Given the description of an element on the screen output the (x, y) to click on. 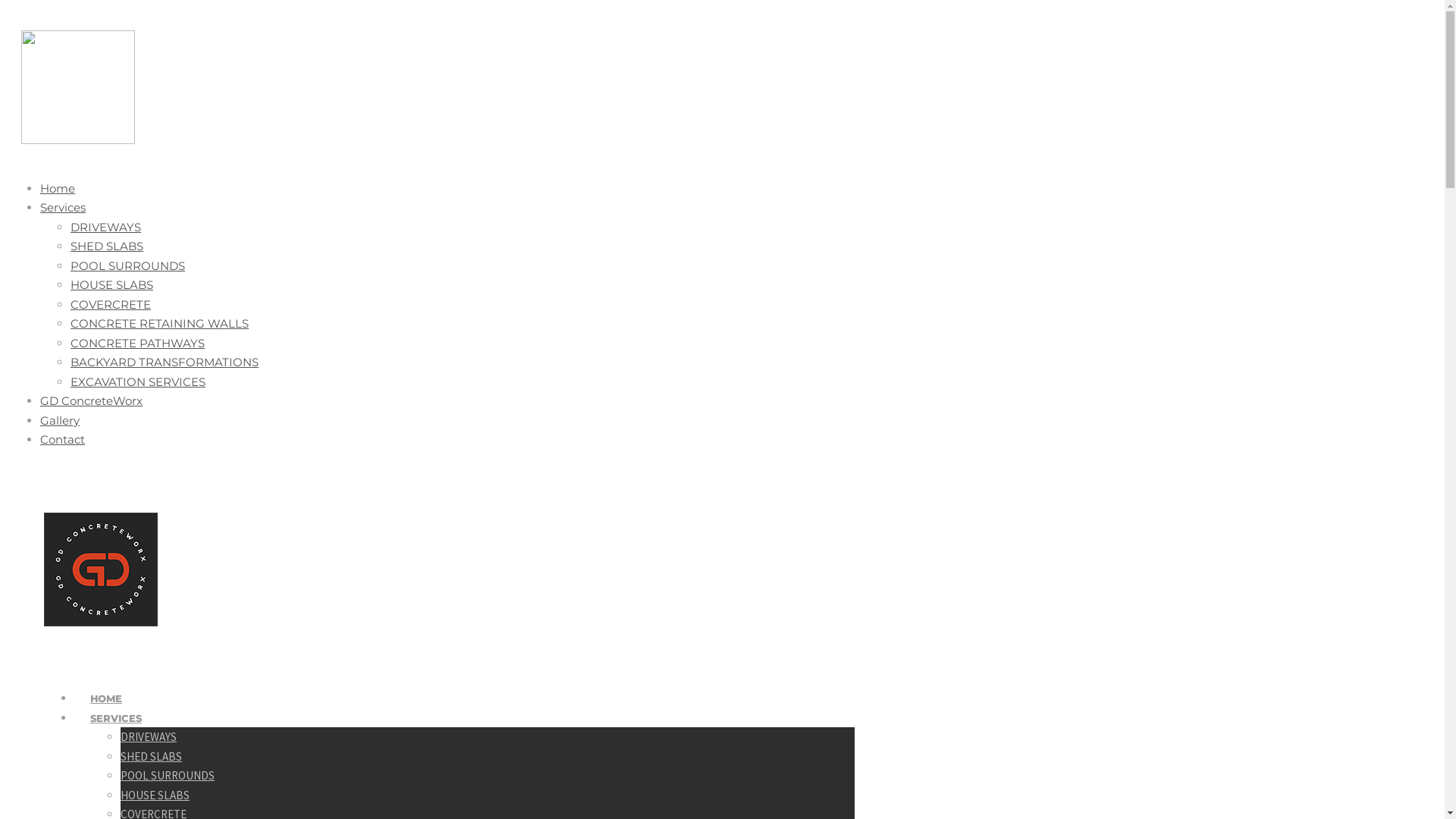
Home Element type: text (57, 187)
POOL SURROUNDS Element type: text (127, 264)
GD ConcreteWorx Element type: text (91, 400)
Services Element type: text (62, 207)
DRIVEWAYS Element type: text (148, 736)
DRIVEWAYS Element type: text (105, 226)
EXCAVATION SERVICES Element type: text (137, 381)
CONCRETE RETAINING WALLS Element type: text (159, 323)
HOME Element type: text (106, 712)
Contact Element type: text (62, 439)
POOL SURROUNDS Element type: text (167, 775)
SHED SLABS Element type: text (151, 756)
COVERCRETE Element type: text (110, 304)
GD Concreteworx Logo_ Element type: hover (100, 569)
HOUSE SLABS Element type: text (154, 794)
HOUSE SLABS Element type: text (111, 284)
CONCRETE PATHWAYS Element type: text (137, 342)
SHED SLABS Element type: text (106, 245)
0416 173 608 Element type: text (57, 448)
Gallery Element type: text (59, 419)
BACKYARD TRANSFORMATIONS Element type: text (164, 361)
GD Concreteworx Logo_ Element type: hover (77, 87)
SERVICES Element type: text (115, 731)
